Given the description of an element on the screen output the (x, y) to click on. 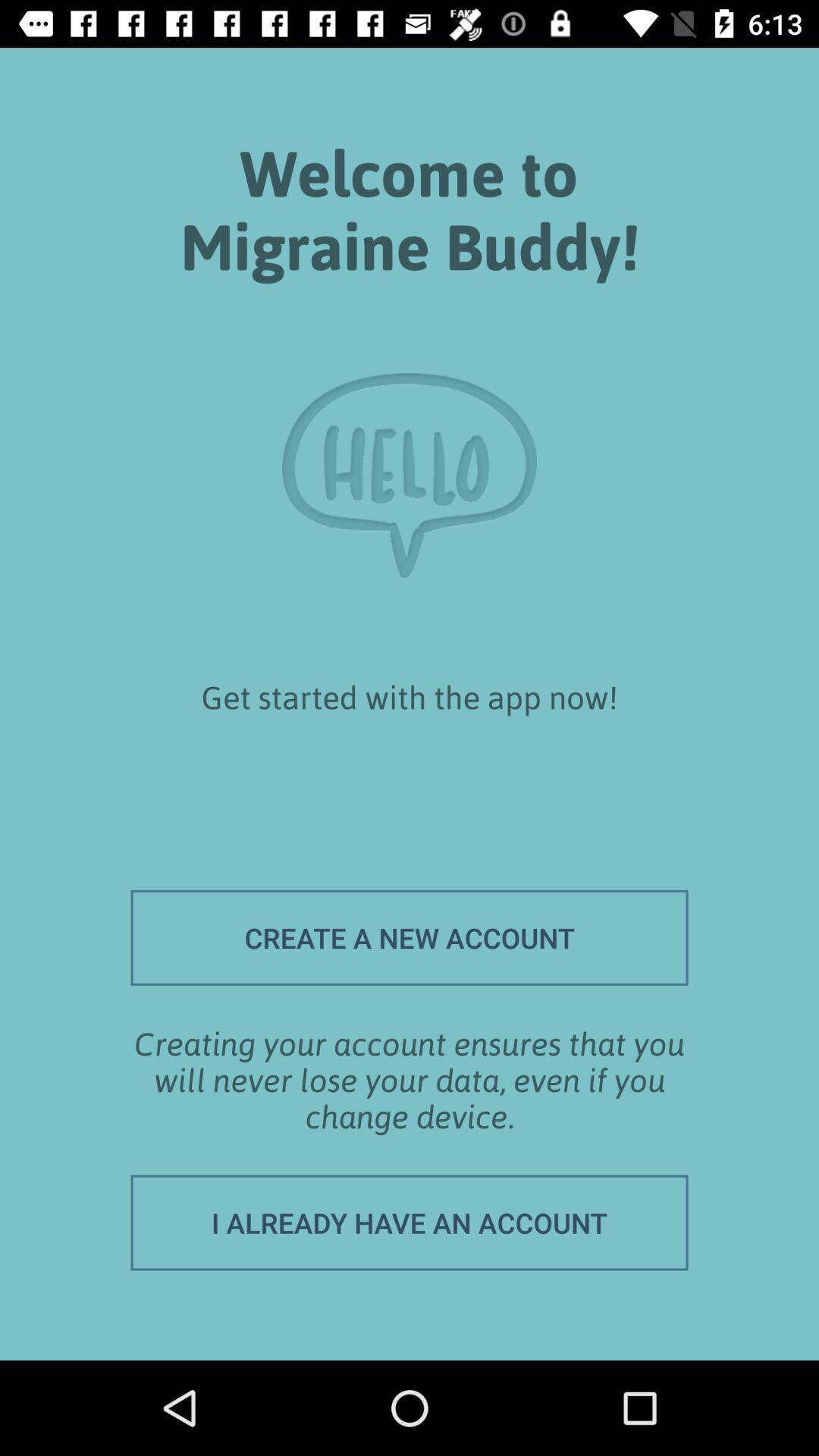
select app below the get started with (409, 937)
